Given the description of an element on the screen output the (x, y) to click on. 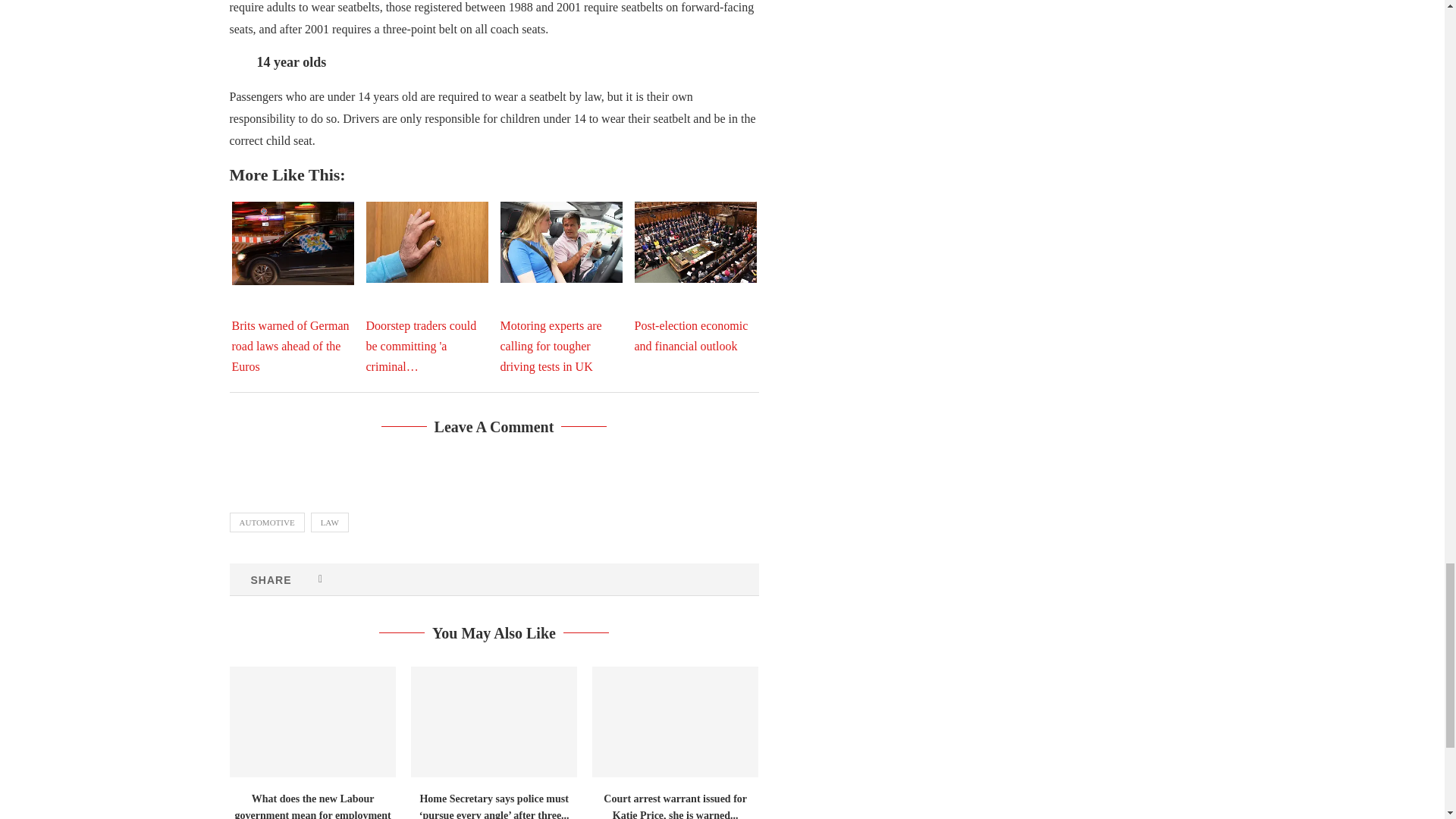
Brits warned of German road laws ahead of the Euros (292, 243)
Post-election economic and financial outlook (694, 241)
Motoring experts are calling for tougher driving tests in UK (561, 241)
What does the new Labour government mean for employment law? (311, 721)
